Given the description of an element on the screen output the (x, y) to click on. 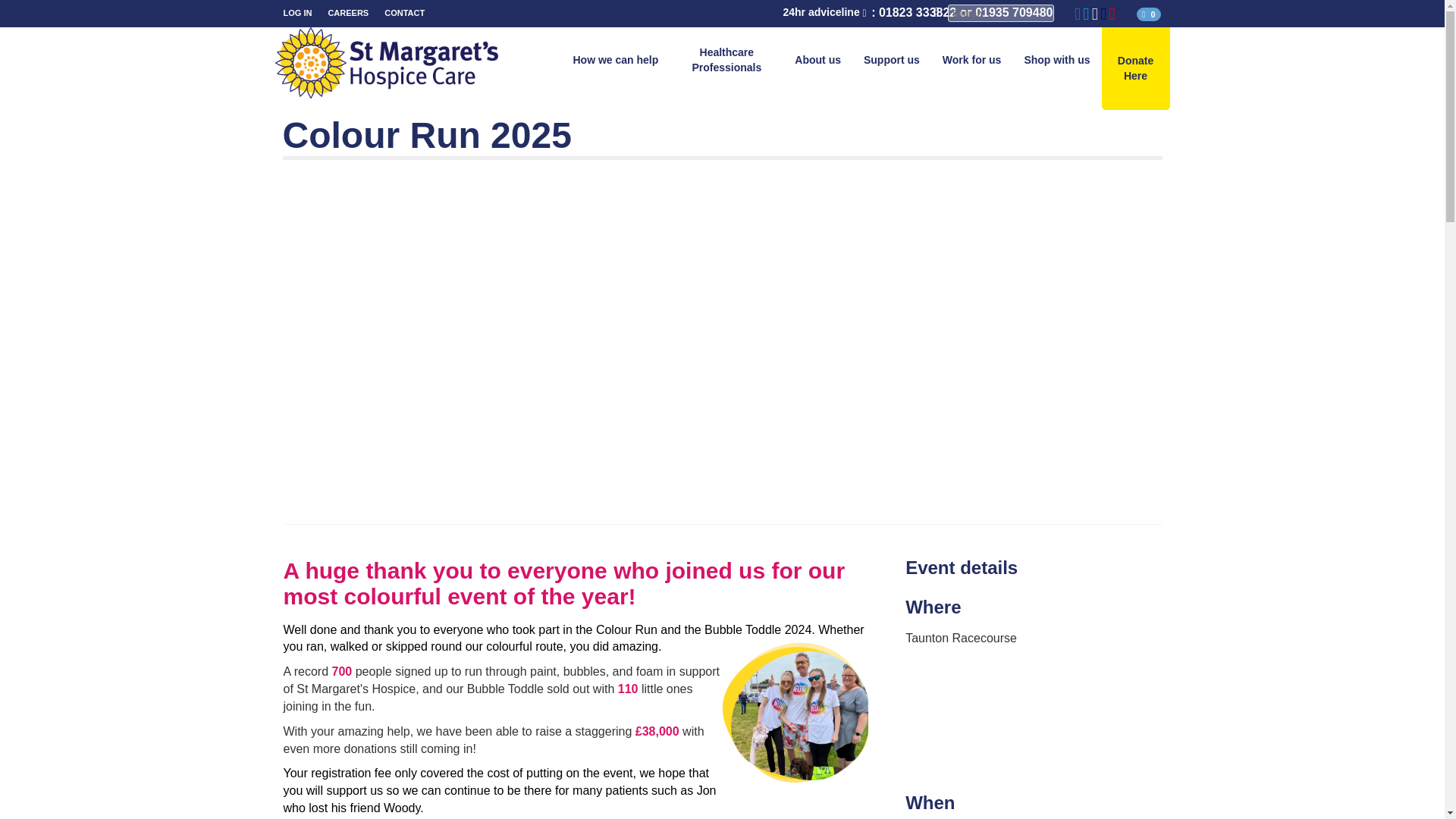
St Margaret's Hospice (483, 62)
Healthcare Professionals (726, 60)
CAREERS (346, 13)
SEARCH (935, 12)
Search (1000, 13)
How we can help (614, 60)
About us (817, 60)
Log in to contribute or update your details (296, 13)
LOG IN (296, 13)
Home (483, 62)
